Given the description of an element on the screen output the (x, y) to click on. 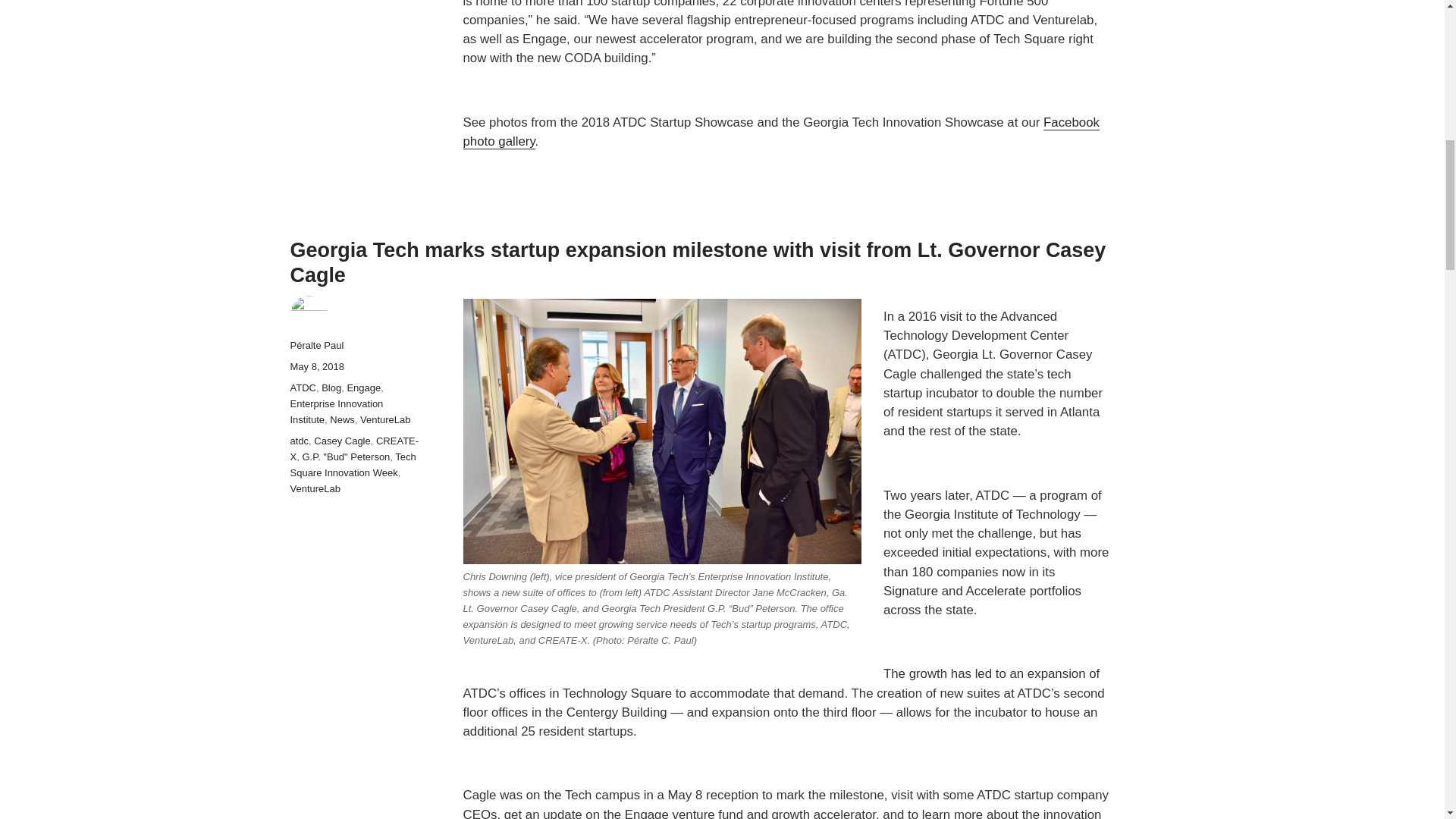
Facebook photo gallery (781, 131)
